Given the description of an element on the screen output the (x, y) to click on. 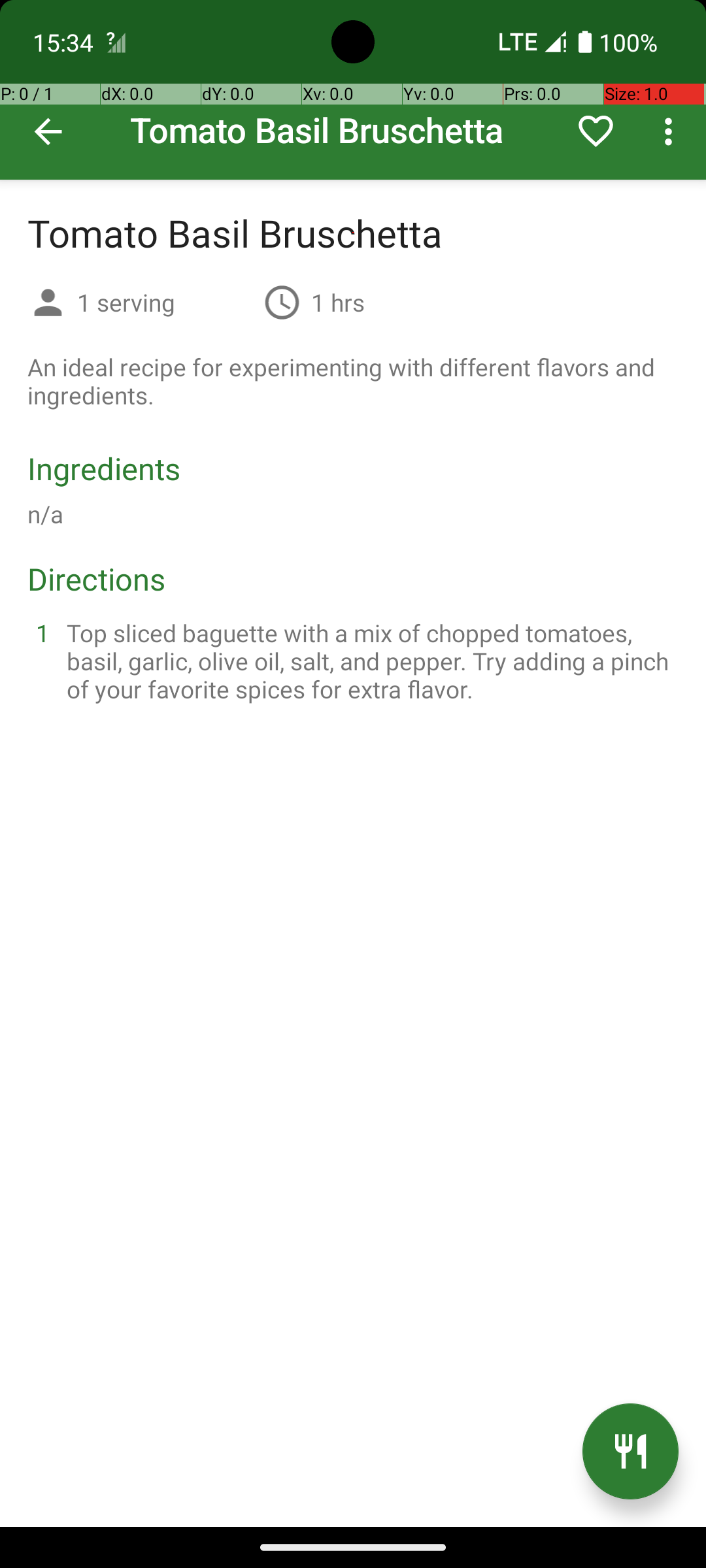
Tomato Basil Bruschetta Element type: android.widget.FrameLayout (353, 89)
Top sliced baguette with a mix of chopped tomatoes, basil, garlic, olive oil, salt, and pepper. Try adding a pinch of your favorite spices for extra flavor. Element type: android.widget.TextView (368, 660)
